Given the description of an element on the screen output the (x, y) to click on. 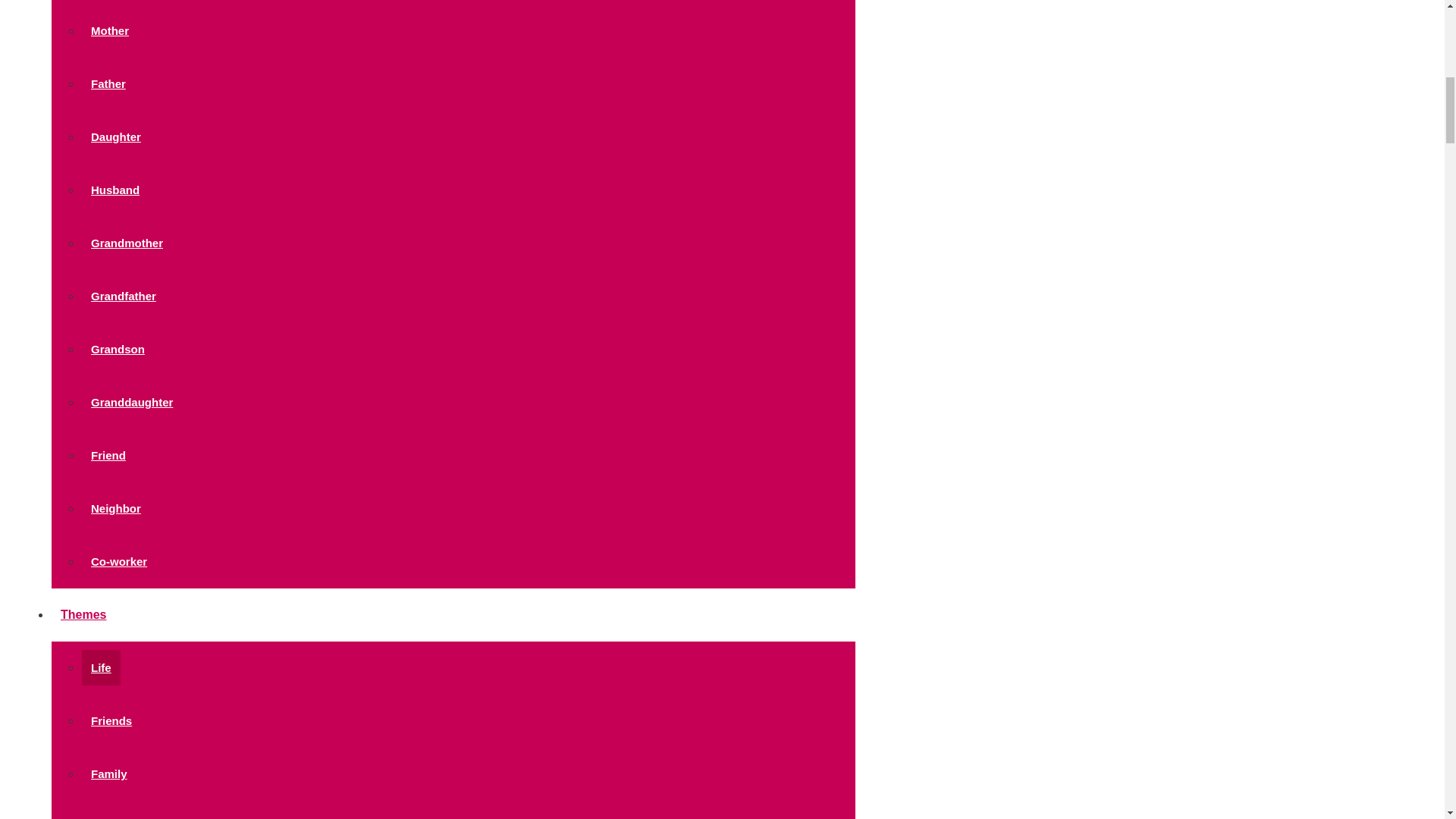
Family (108, 773)
Life (100, 667)
Friends (111, 720)
Grandson (117, 348)
Neighbor (115, 508)
Friend (108, 455)
Granddaughter (131, 402)
Grandfather (123, 295)
Husband (114, 189)
Faith (104, 814)
Daughter (115, 136)
Themes (86, 614)
Co-worker (118, 561)
Grandmother (126, 243)
Mother (109, 30)
